Given the description of an element on the screen output the (x, y) to click on. 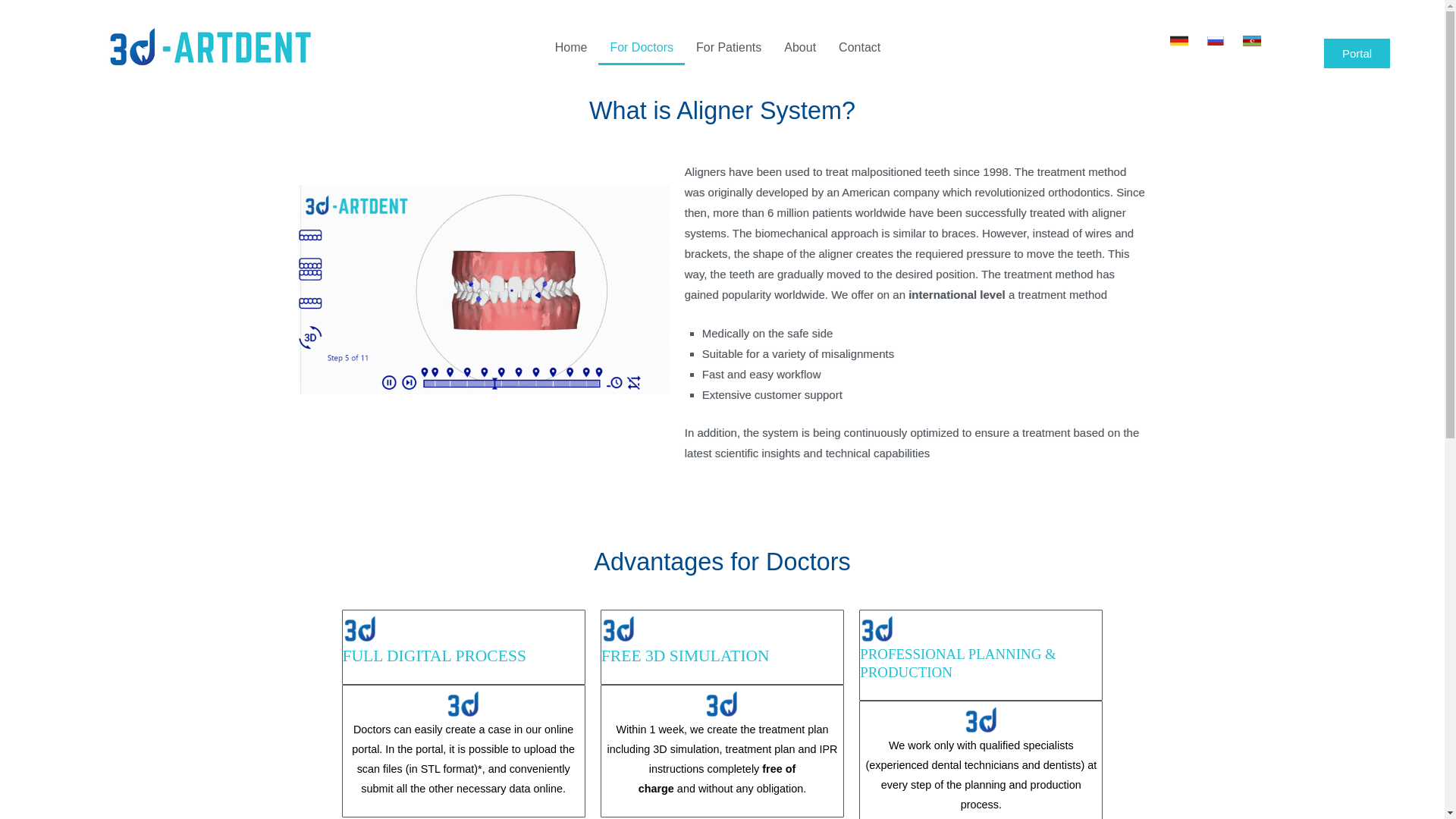
Contact (859, 47)
About (800, 47)
Home (570, 47)
For Patients (728, 47)
For Doctors (641, 47)
Portal (1356, 53)
